Given the description of an element on the screen output the (x, y) to click on. 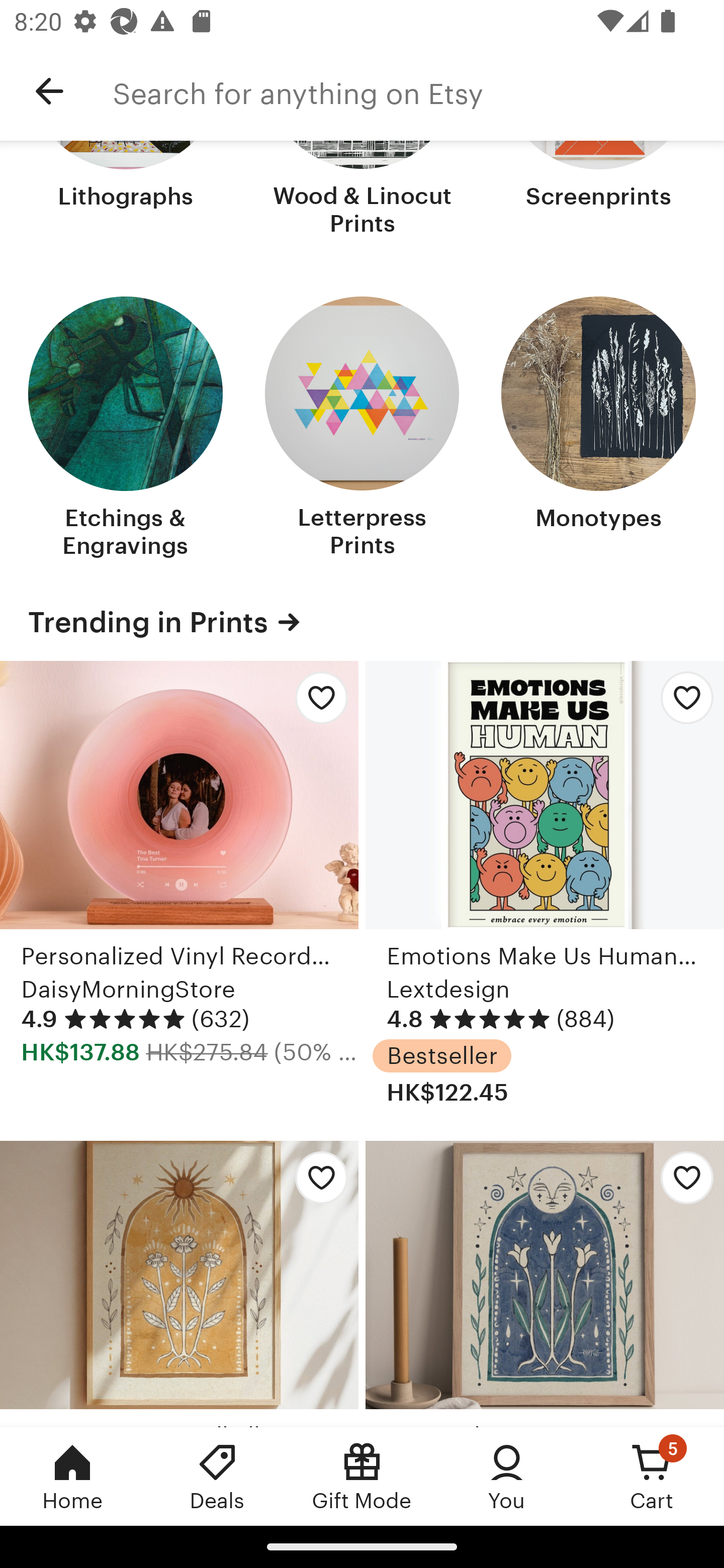
Navigate up (49, 91)
Search for anything on Etsy (418, 91)
Lithographs (125, 190)
Wood & Linocut Prints (361, 190)
Screenprints (598, 190)
Etchings & Engravings (125, 429)
Letterpress Prints (361, 429)
Monotypes (598, 429)
Trending in Prints  (361, 621)
Deals (216, 1475)
Gift Mode (361, 1475)
You (506, 1475)
Cart, 5 new notifications Cart (651, 1475)
